Given the description of an element on the screen output the (x, y) to click on. 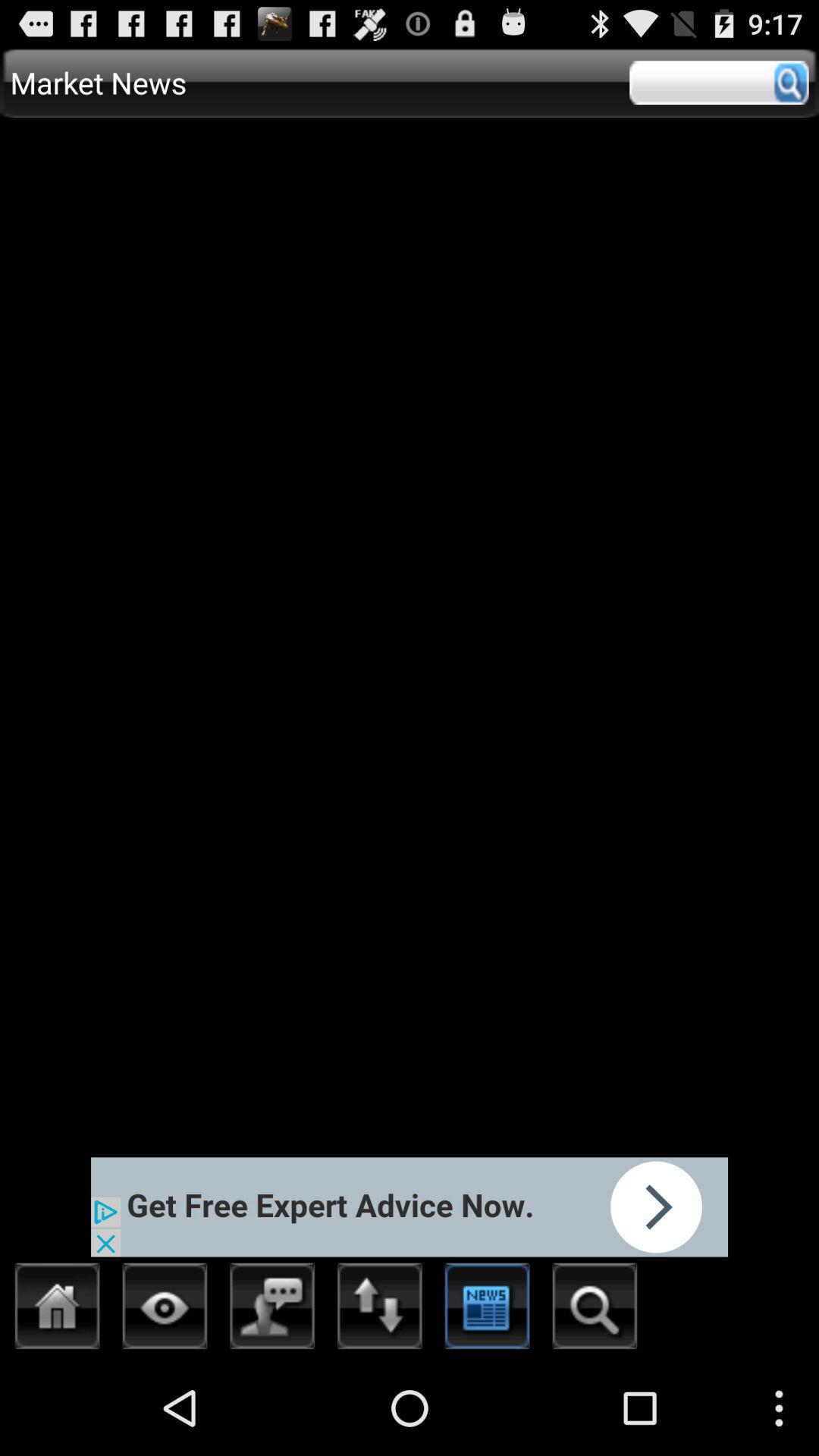
share the article (409, 1206)
